Given the description of an element on the screen output the (x, y) to click on. 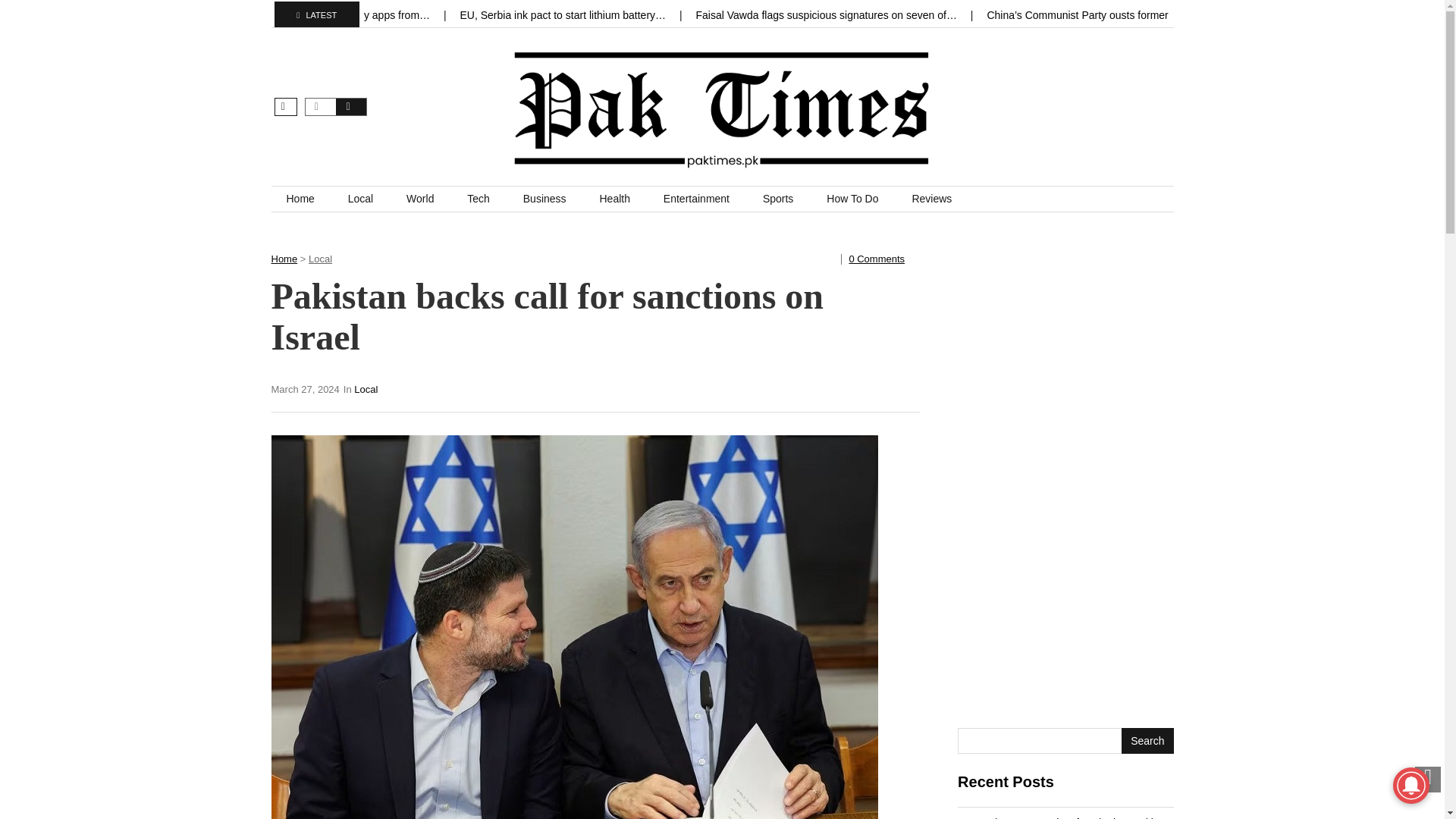
Tech (478, 198)
Skip to content (306, 193)
Local (319, 258)
Home (284, 258)
Entertainment (695, 198)
Local (365, 389)
How To Do (851, 198)
World (419, 198)
0 Comments (876, 258)
Sports (778, 198)
Home (300, 198)
Business (544, 198)
Skip to content (306, 193)
Reviews (931, 198)
Local (360, 198)
